Given the description of an element on the screen output the (x, y) to click on. 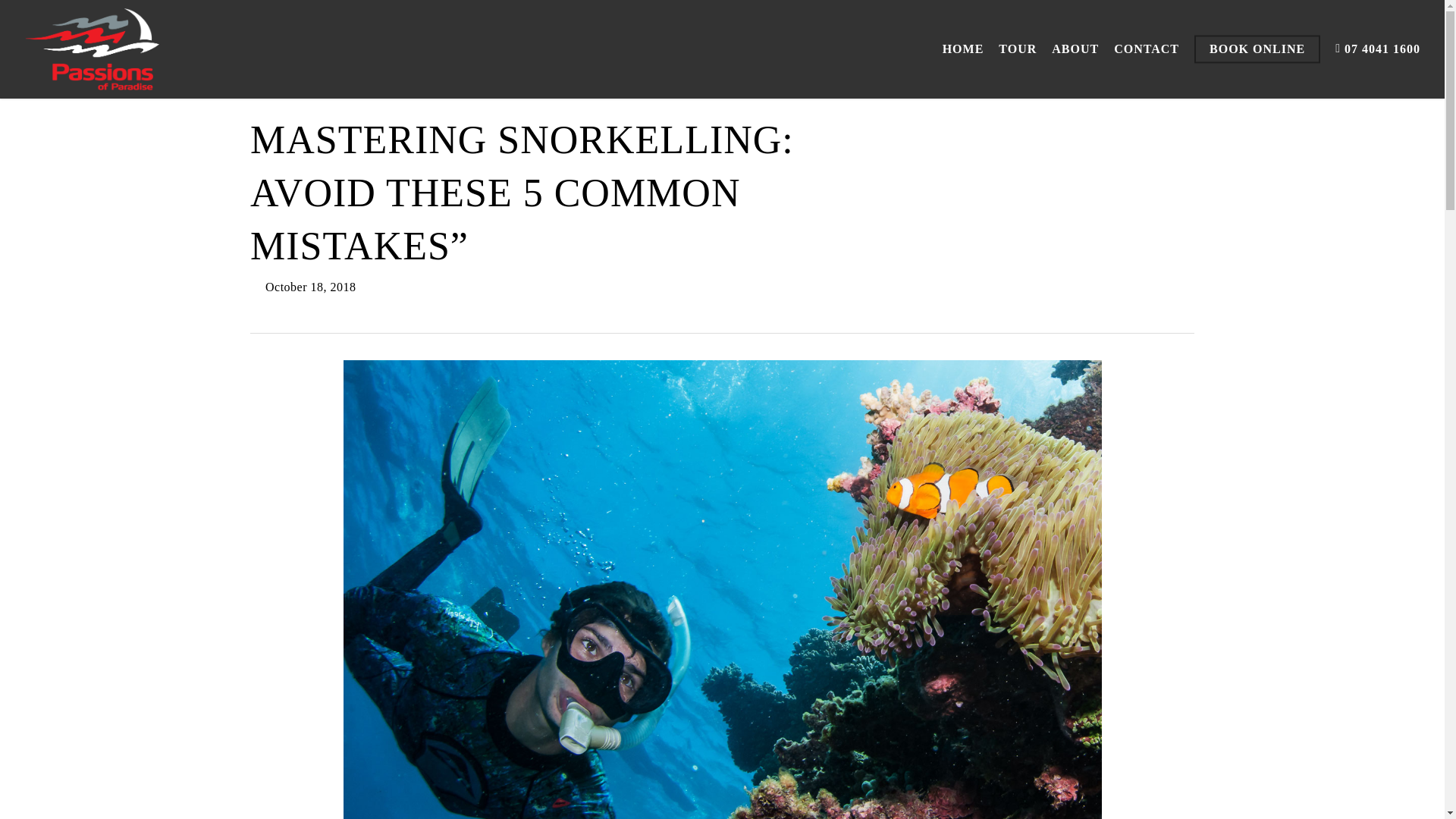
BOOK ONLINE (1256, 49)
TOUR (1017, 49)
HOME (963, 49)
ABOUT (1075, 49)
07 4041 1600 (1378, 49)
CONTACT (1146, 49)
